Given the description of an element on the screen output the (x, y) to click on. 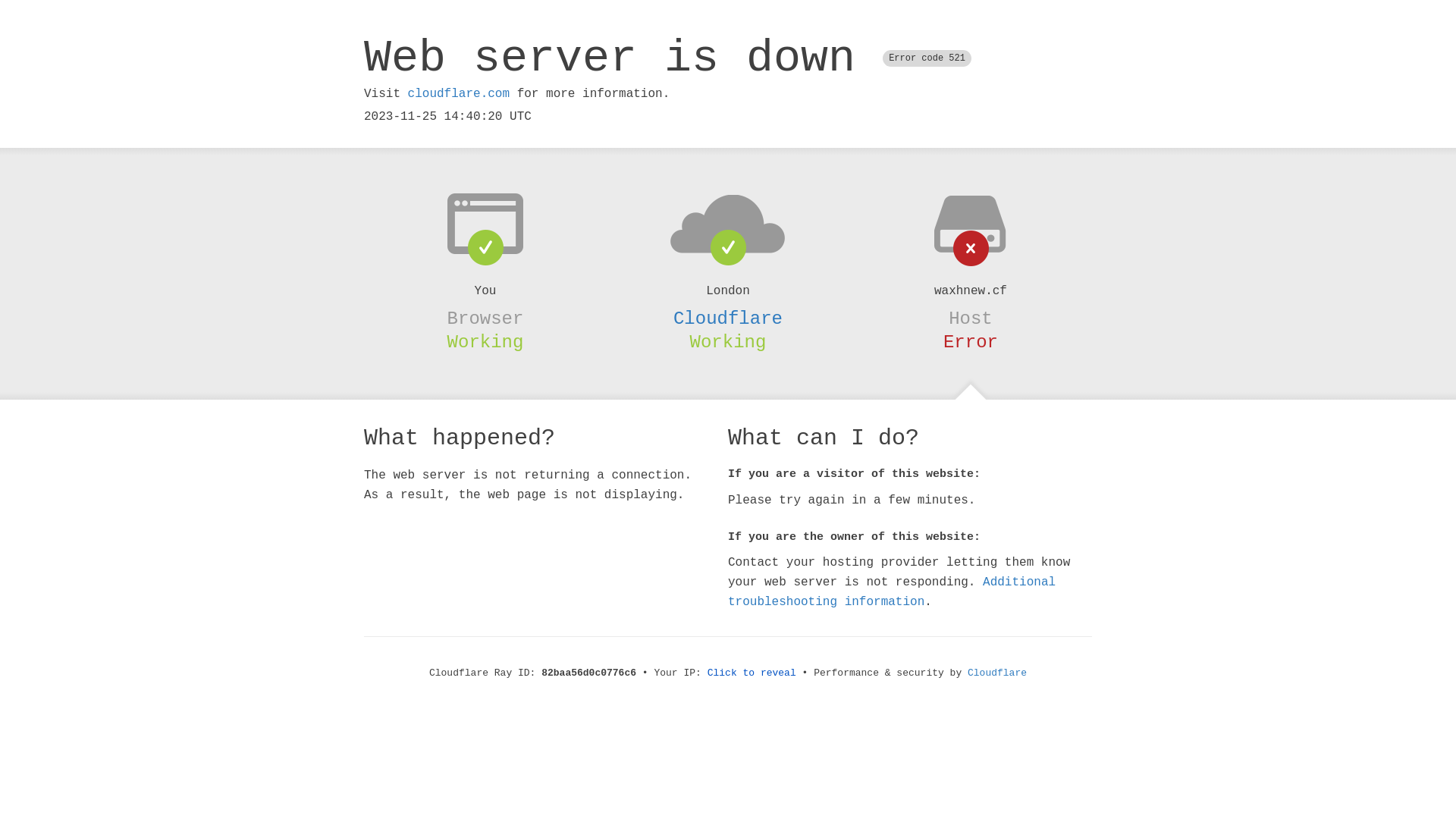
Additional troubleshooting information Element type: text (891, 591)
Click to reveal Element type: text (751, 672)
Cloudflare Element type: text (996, 672)
Cloudflare Element type: text (727, 318)
cloudflare.com Element type: text (458, 93)
